Given the description of an element on the screen output the (x, y) to click on. 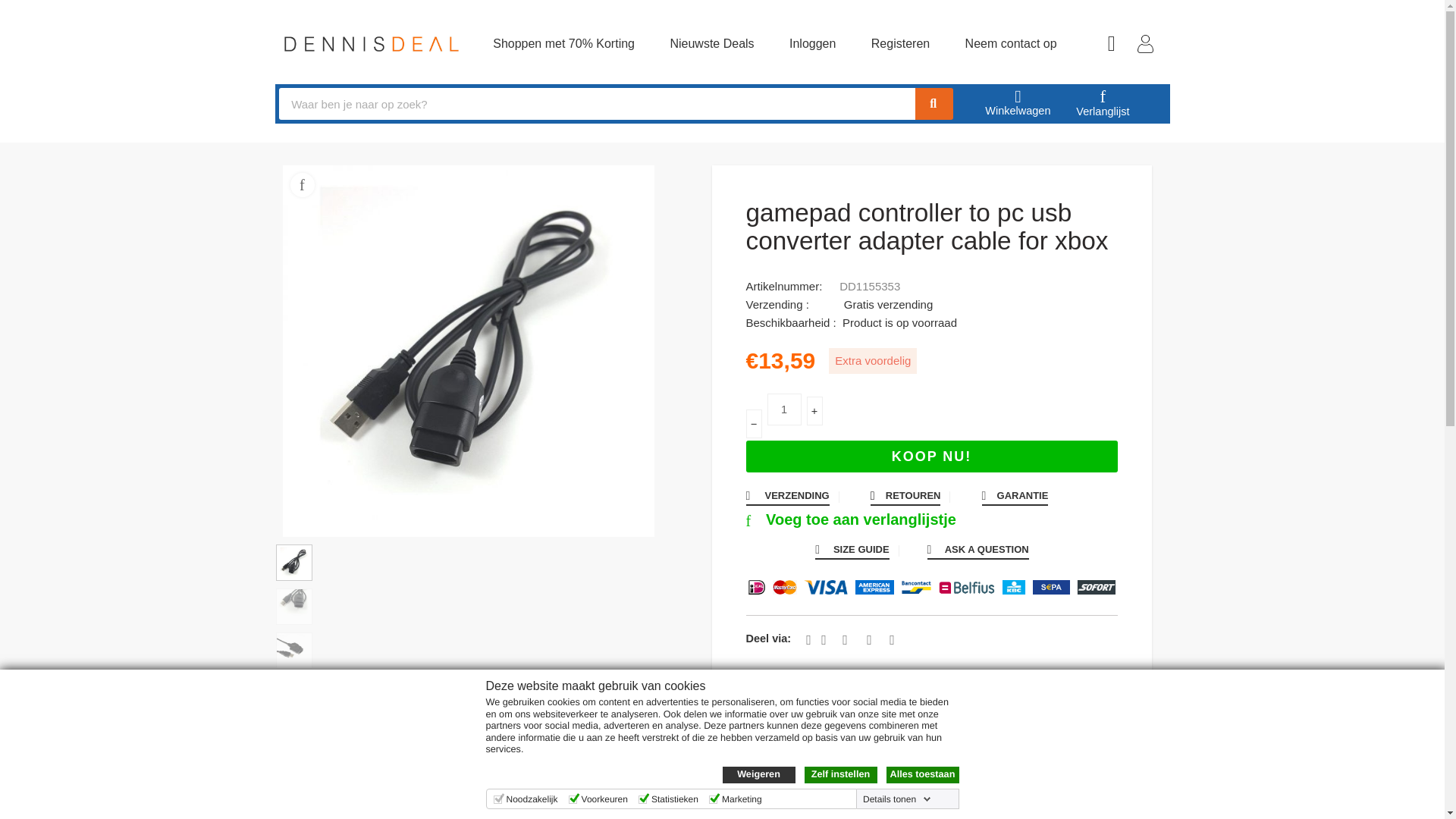
1 (784, 409)
Zelf instellen (839, 774)
Weigeren (758, 774)
Alles toestaan (921, 774)
BESCHRIJVING (722, 781)
Details tonen (897, 799)
